Given the description of an element on the screen output the (x, y) to click on. 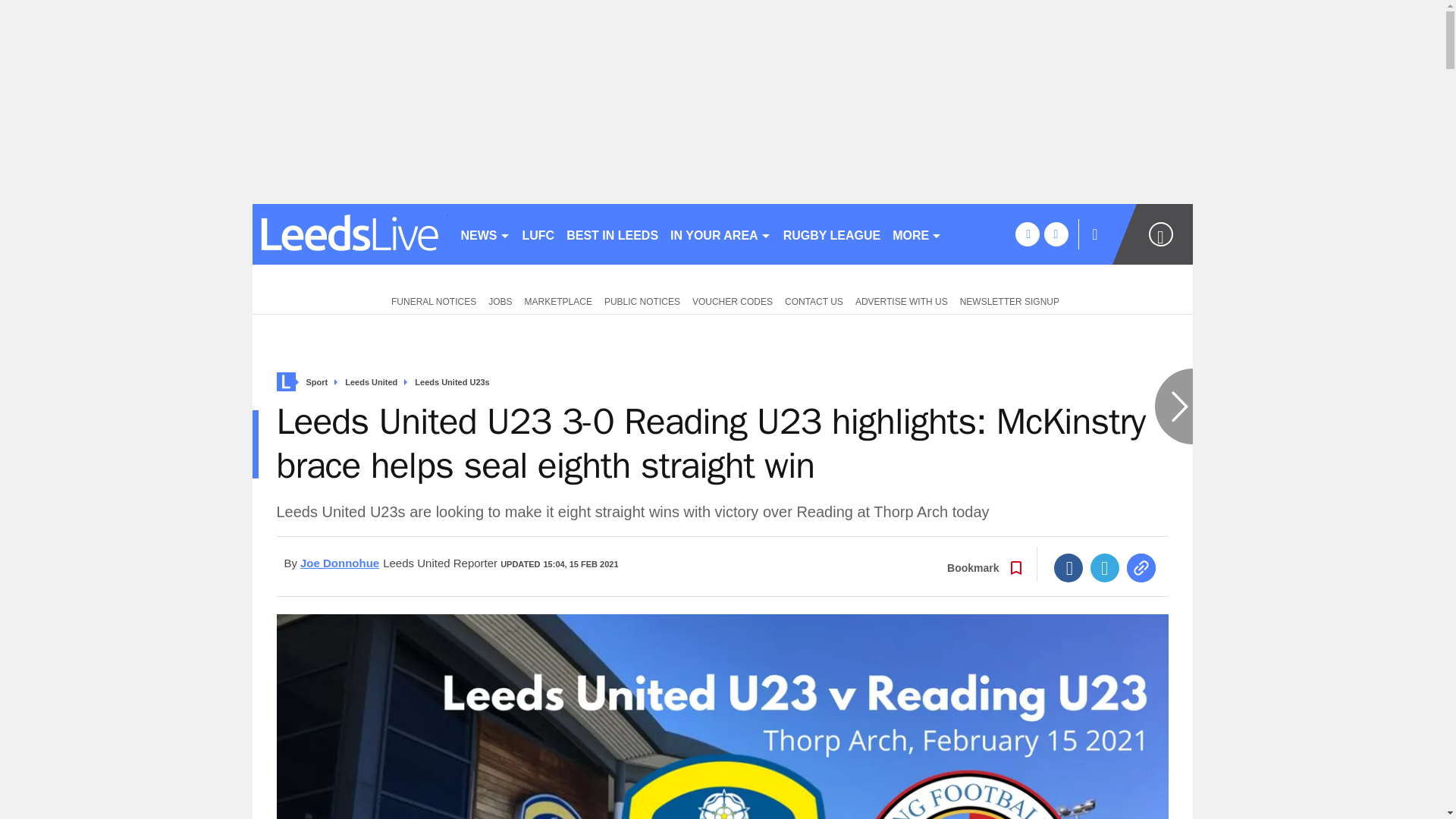
MORE (916, 233)
twitter (1055, 233)
FUNERAL NOTICES (429, 300)
NEWSLETTER SIGNUP (1009, 300)
Leeds United (371, 382)
BEST IN LEEDS (611, 233)
ADVERTISE WITH US (900, 300)
Facebook (1068, 567)
Twitter (1104, 567)
facebook (1026, 233)
